Given the description of an element on the screen output the (x, y) to click on. 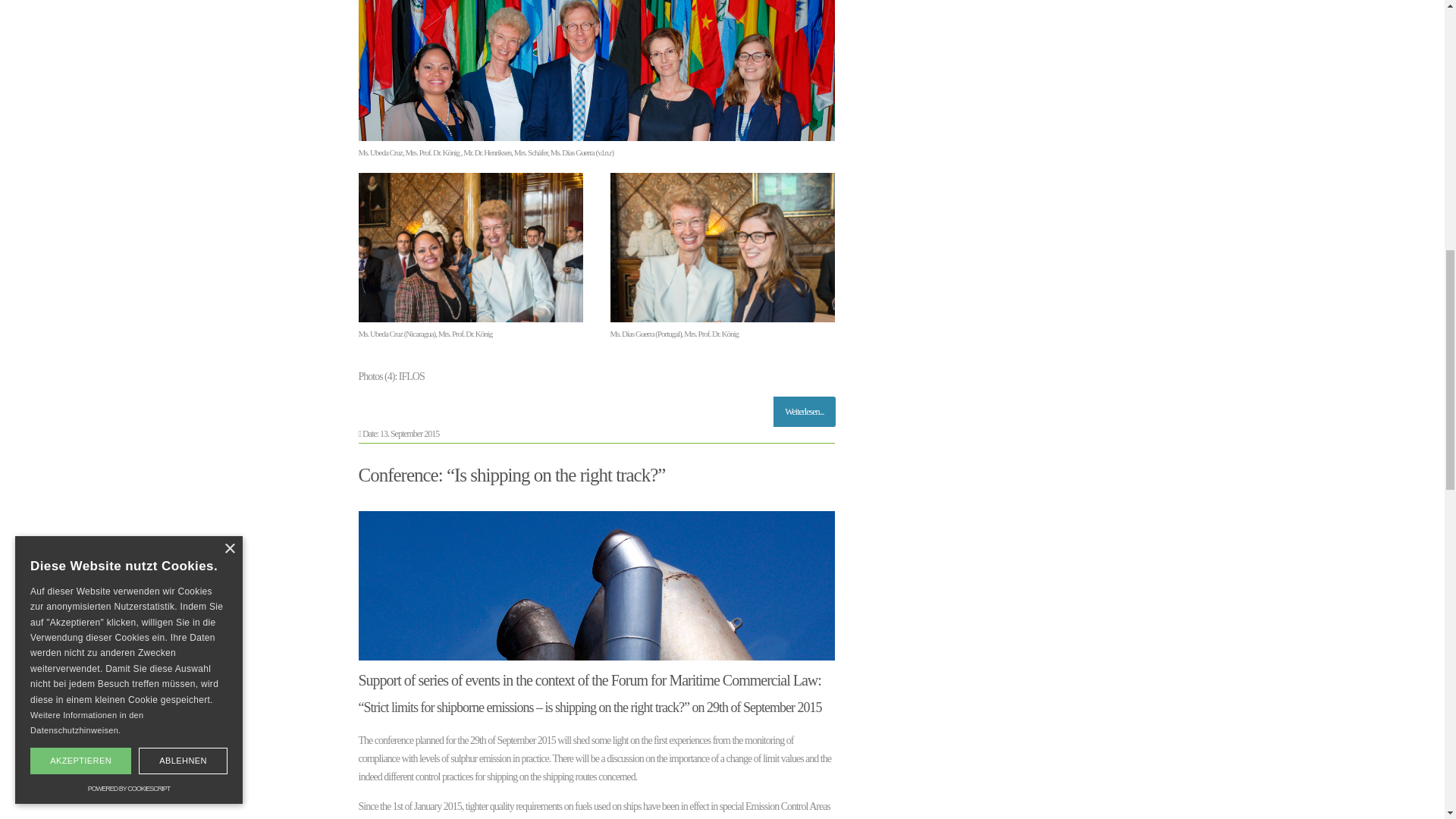
Weiterlesen... (803, 411)
